Given the description of an element on the screen output the (x, y) to click on. 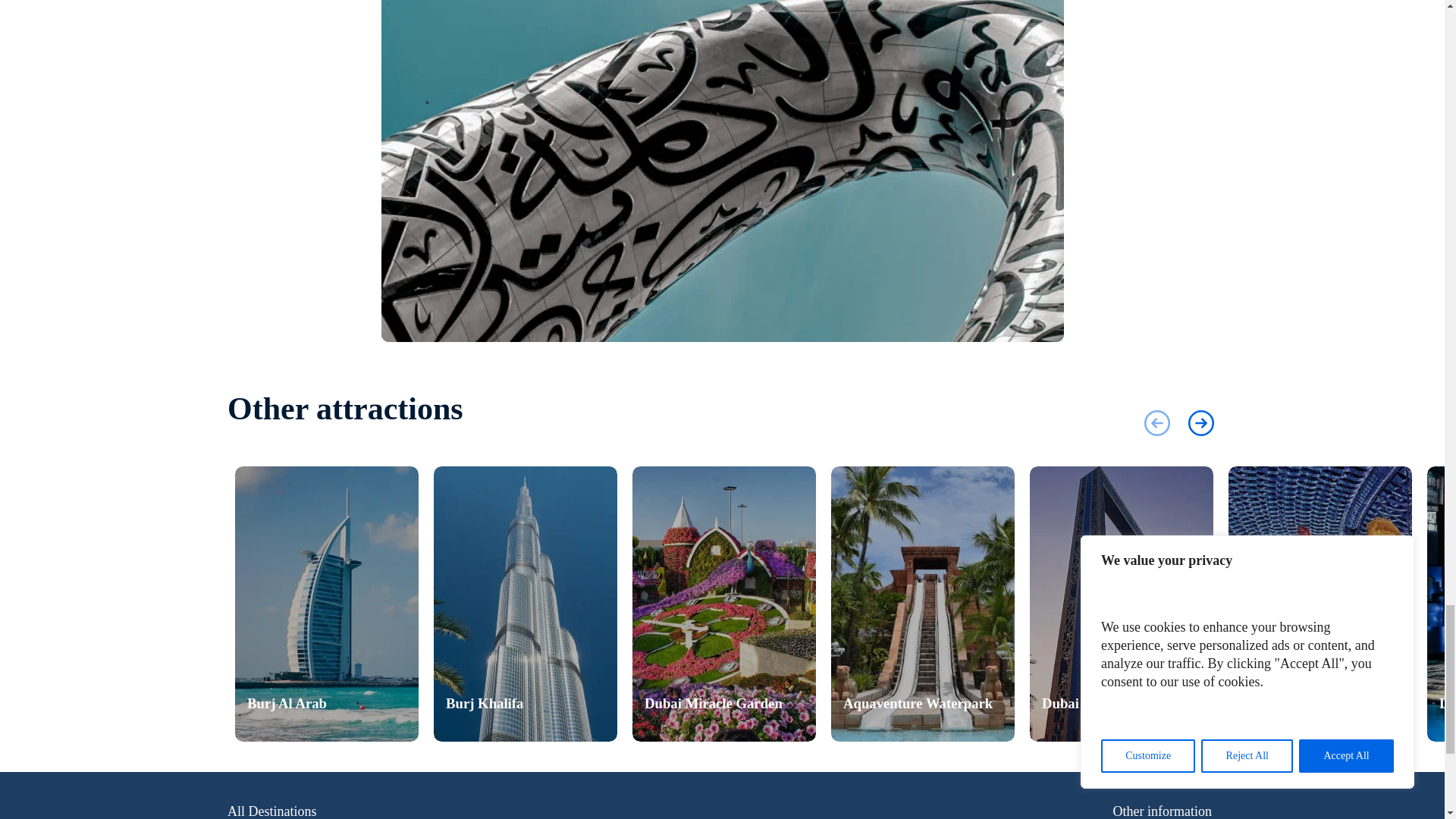
Dubai Miracle Garden (723, 604)
Burj Khalifa (525, 604)
Burj Al Arab (326, 604)
IMG Worlds of Adventure (1320, 604)
Dubai Frame (1120, 604)
Aquaventure Waterpark (922, 604)
